Given the description of an element on the screen output the (x, y) to click on. 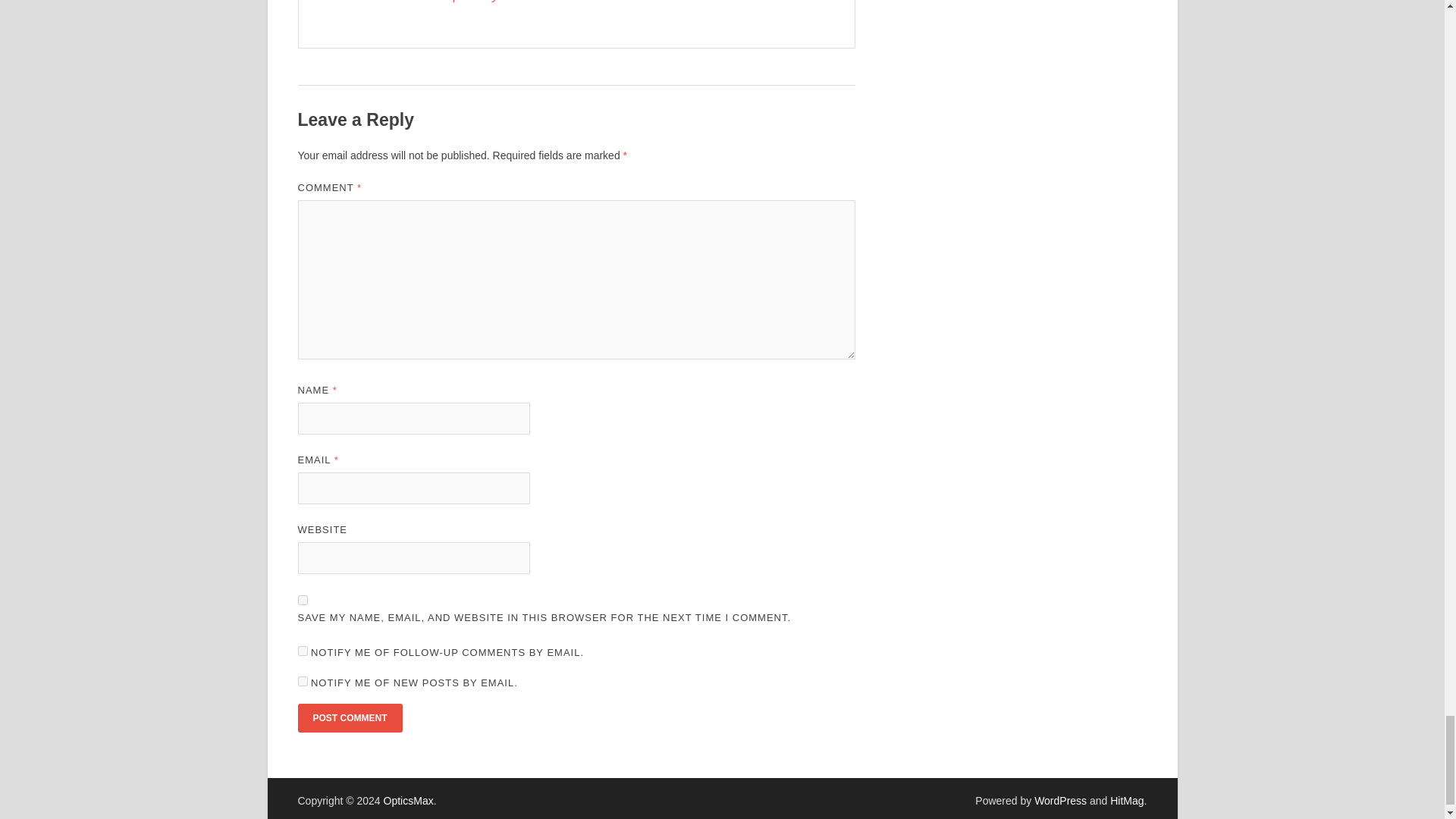
subscribe (302, 651)
yes (302, 600)
Post Comment (349, 717)
subscribe (302, 681)
